Given the description of an element on the screen output the (x, y) to click on. 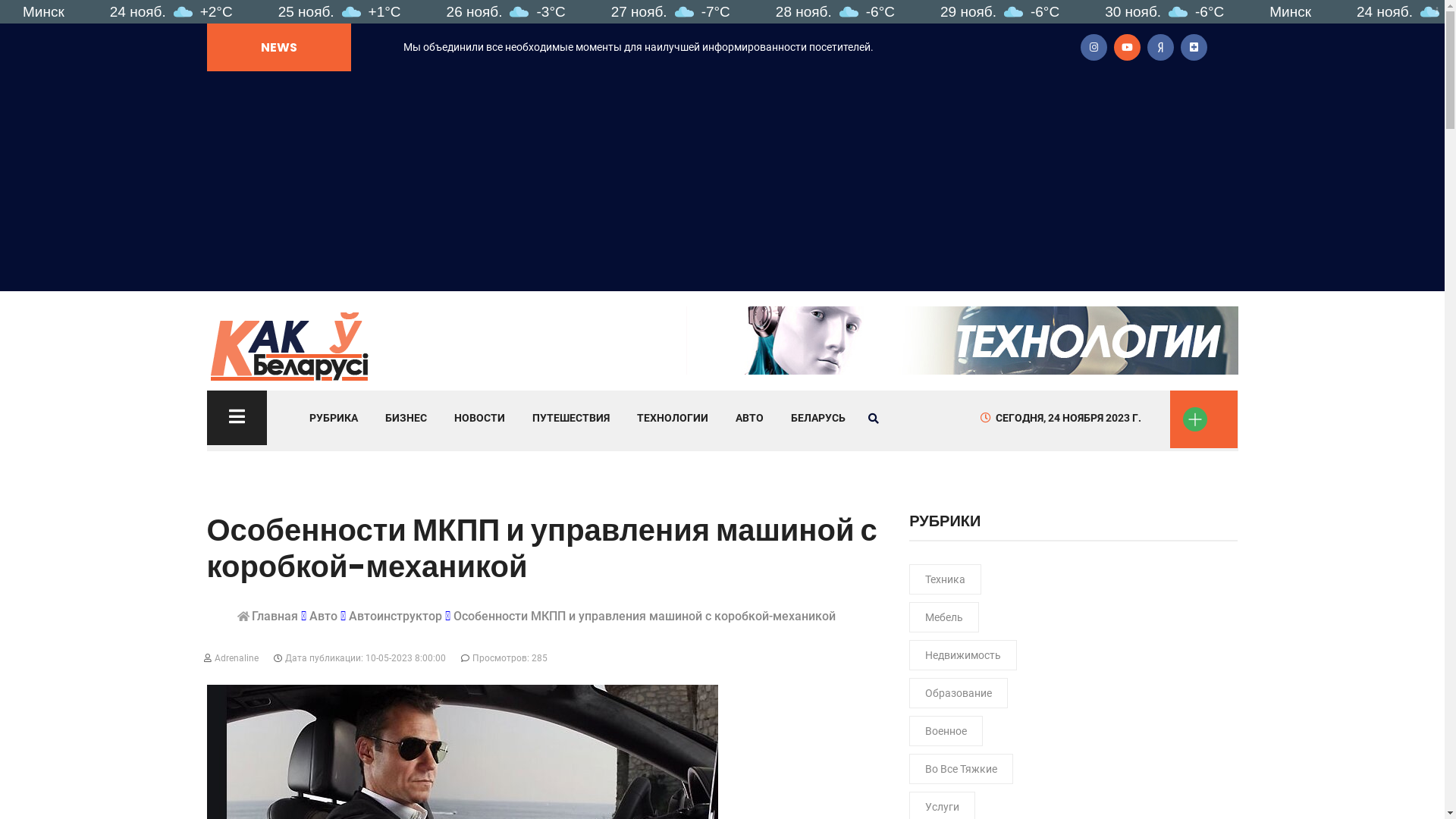
Advertisement Element type: hover (721, 184)
kvb.by Element type: hover (289, 344)
Adrenaline Element type: text (231, 657)
